Given the description of an element on the screen output the (x, y) to click on. 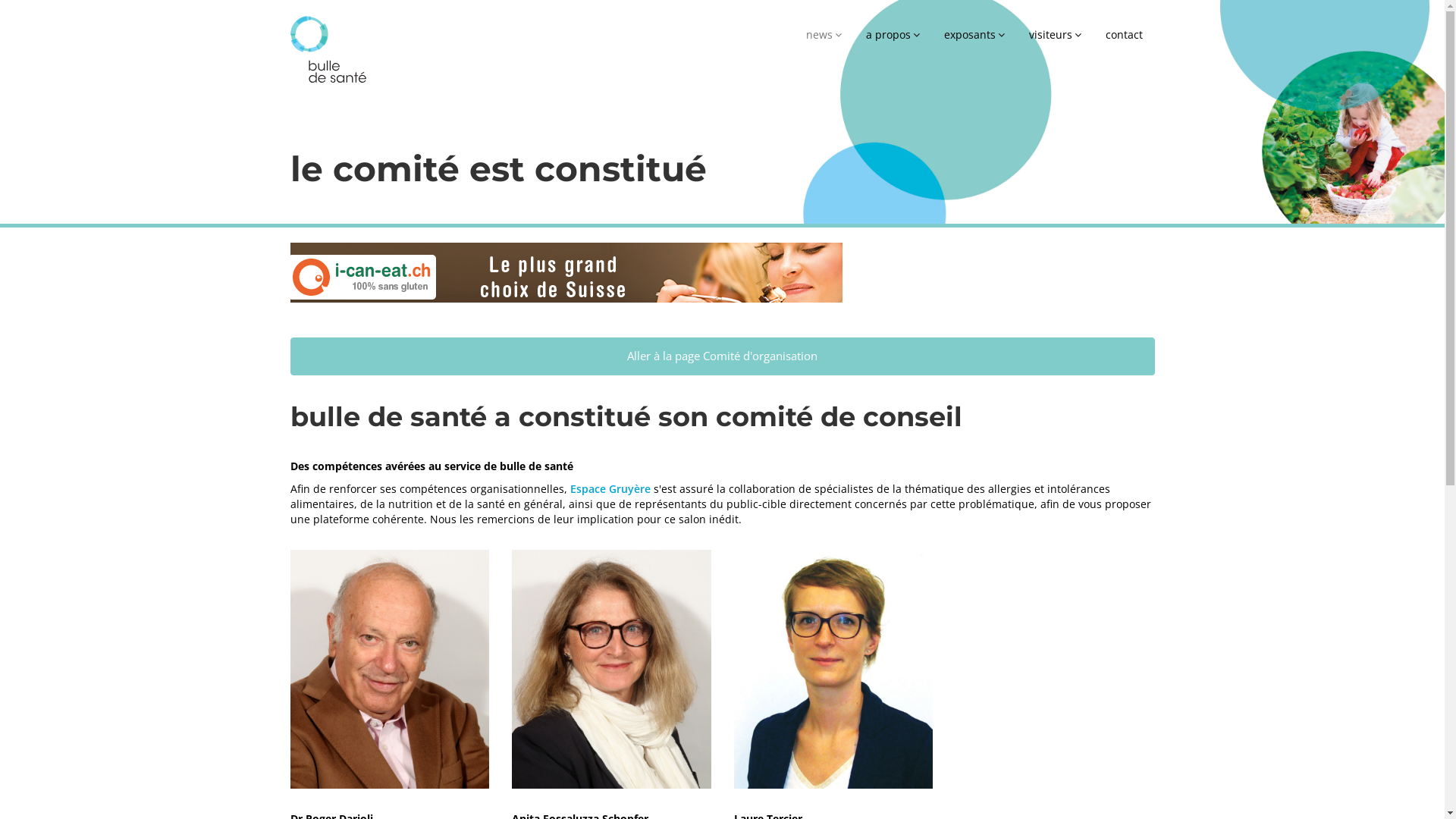
news Element type: text (823, 33)
a propos Element type: text (892, 33)
visiteurs Element type: text (1054, 33)
Roger Darioli Element type: hover (389, 668)
Laure Tercier Element type: hover (833, 668)
contact Element type: text (1123, 33)
exposants Element type: text (973, 33)
Anita Fossaluzza Element type: hover (611, 668)
